Given the description of an element on the screen output the (x, y) to click on. 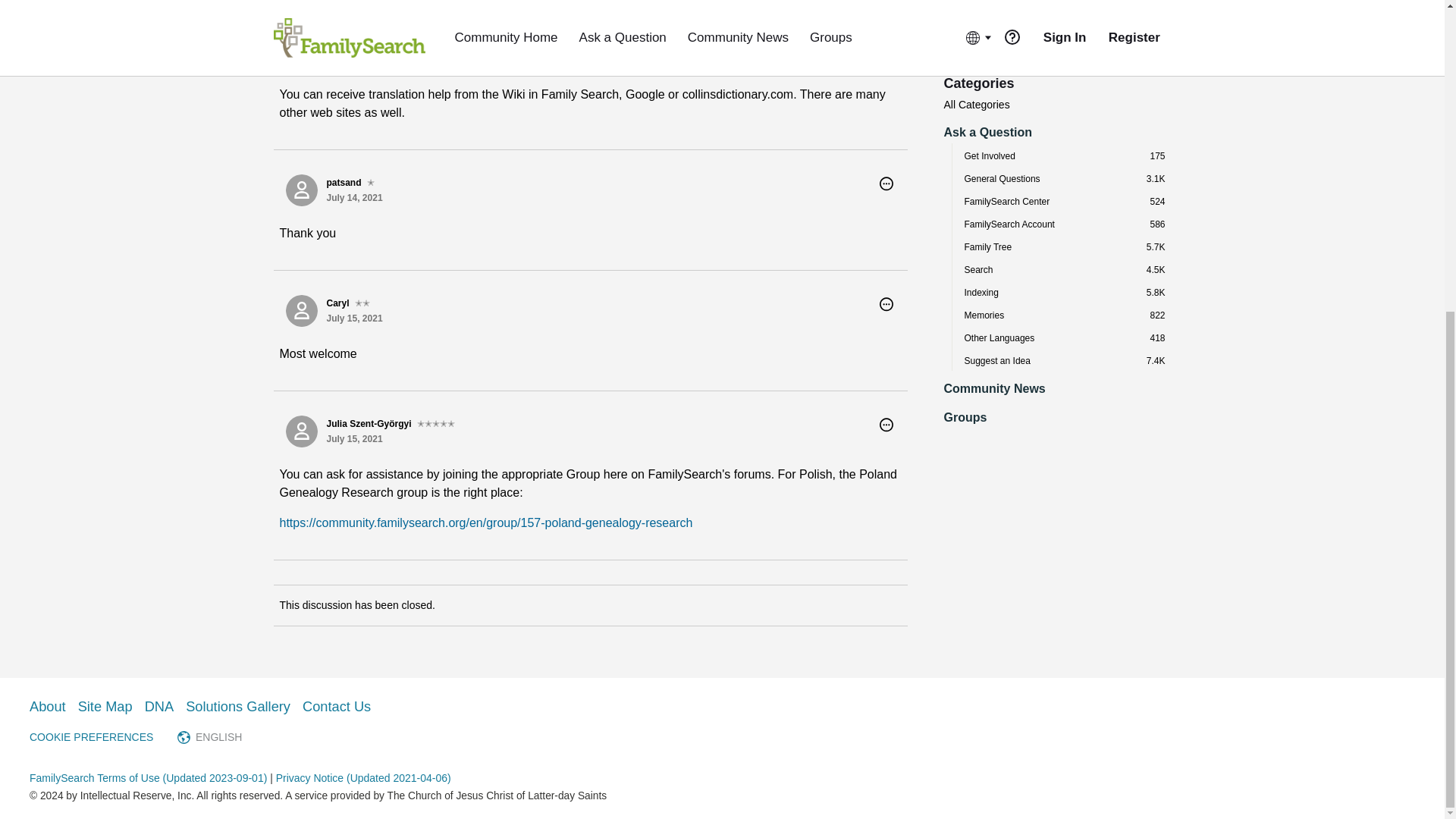
patsand (301, 190)
July 14, 2021 11:07PM (353, 197)
Level 2 (362, 13)
Caryl (301, 20)
Caryl (301, 310)
Level 2 (362, 303)
July 14, 2021 11:03PM (353, 28)
July 15, 2021 12:04AM (353, 317)
